Given the description of an element on the screen output the (x, y) to click on. 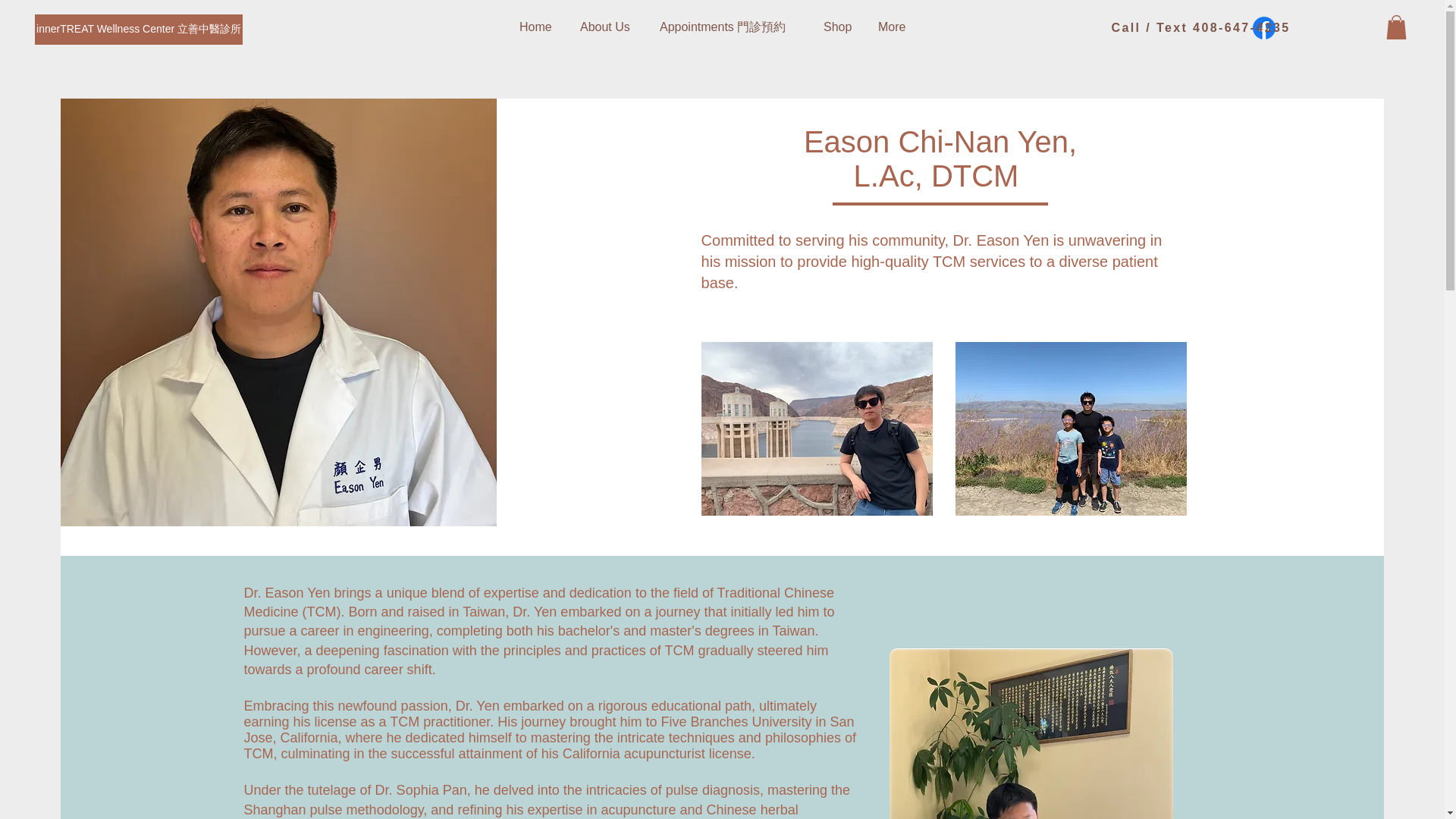
Zoe02.jpg (1030, 733)
About Us (608, 27)
Zoe03.jpg (817, 428)
Shop (839, 27)
Home (538, 27)
zoespeech.jpg (1070, 428)
